Given the description of an element on the screen output the (x, y) to click on. 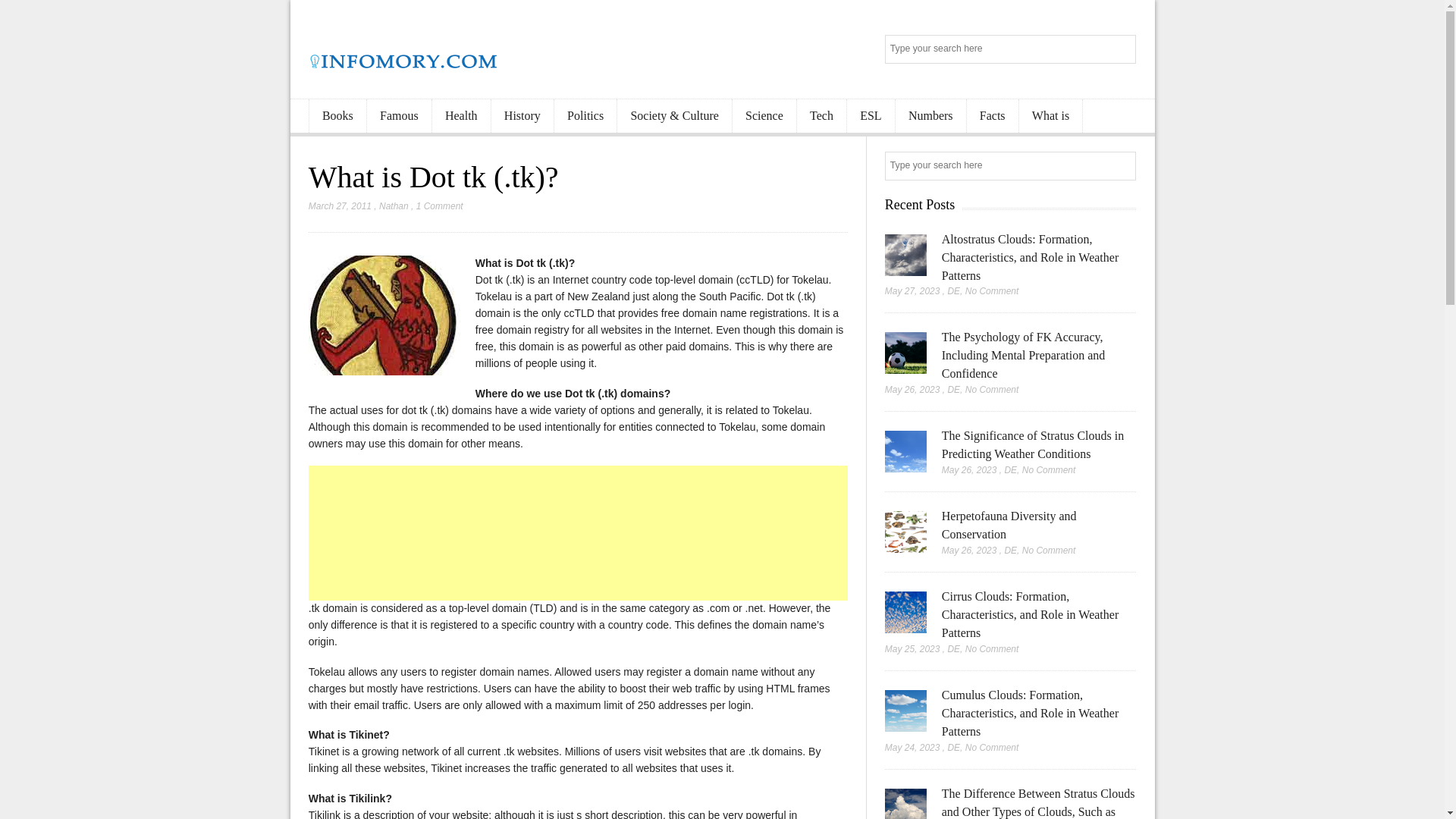
Posts by Nathan (393, 205)
Famous (398, 116)
DE (953, 389)
No Comment (992, 290)
Search (1123, 167)
Facts (991, 116)
Health (461, 116)
Science (764, 116)
History (522, 116)
Tech (820, 116)
What is (1051, 116)
Posts by DE (953, 290)
What is? (384, 315)
